Given the description of an element on the screen output the (x, y) to click on. 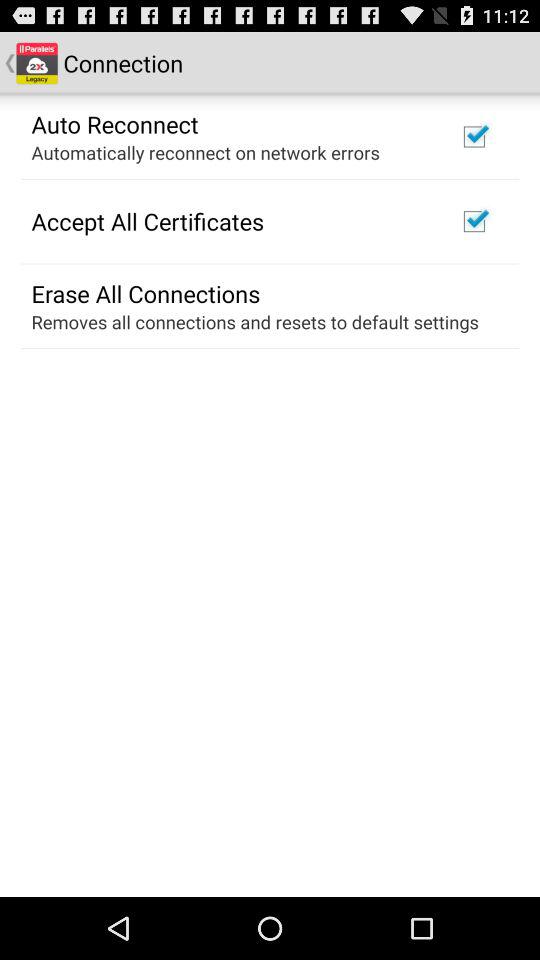
select item below the auto reconnect (205, 151)
